Given the description of an element on the screen output the (x, y) to click on. 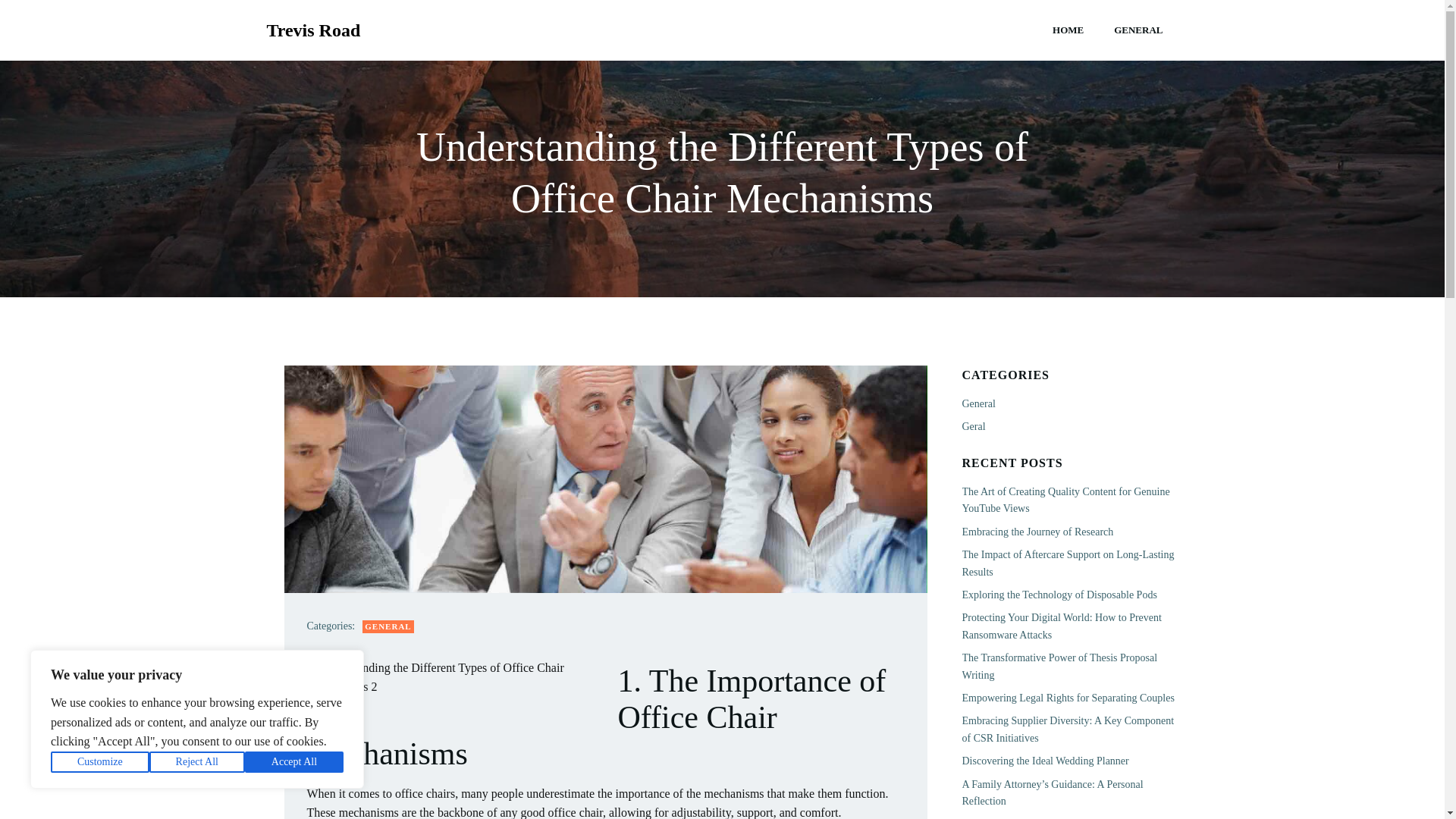
The Transformative Power of Thesis Proposal Writing (1058, 665)
Geral (972, 426)
Exploring the Technology of Disposable Pods (1058, 594)
General (977, 403)
Embracing the Journey of Research (1036, 531)
Accept All (293, 762)
HOME (1067, 29)
GENERAL (1137, 29)
GENERAL (387, 626)
Empowering Legal Rights for Separating Couples (1066, 697)
Trevis Road (313, 30)
Customize (99, 762)
Reject All (196, 762)
